Given the description of an element on the screen output the (x, y) to click on. 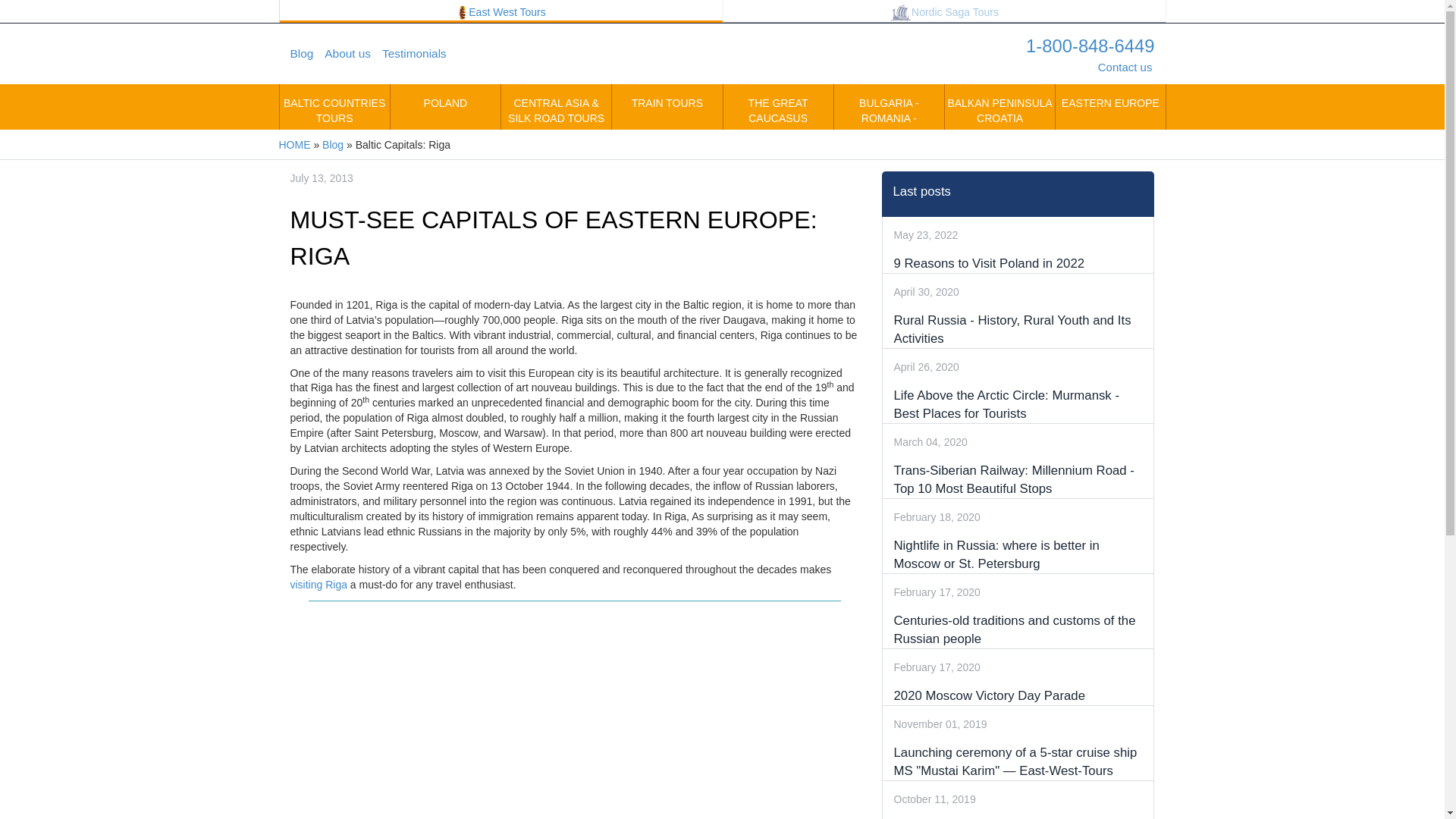
Blog (332, 144)
East West Tours (500, 11)
Contact us (1125, 66)
BALTIC COUNTRIES TOURS (333, 106)
About us (352, 53)
East West Tours (722, 53)
NORDICSAGA.COM (944, 11)
Blog (306, 53)
Nordic Saga Tours (944, 11)
scandinavian tours (900, 13)
TRAIN TOURS (666, 106)
